Given the description of an element on the screen output the (x, y) to click on. 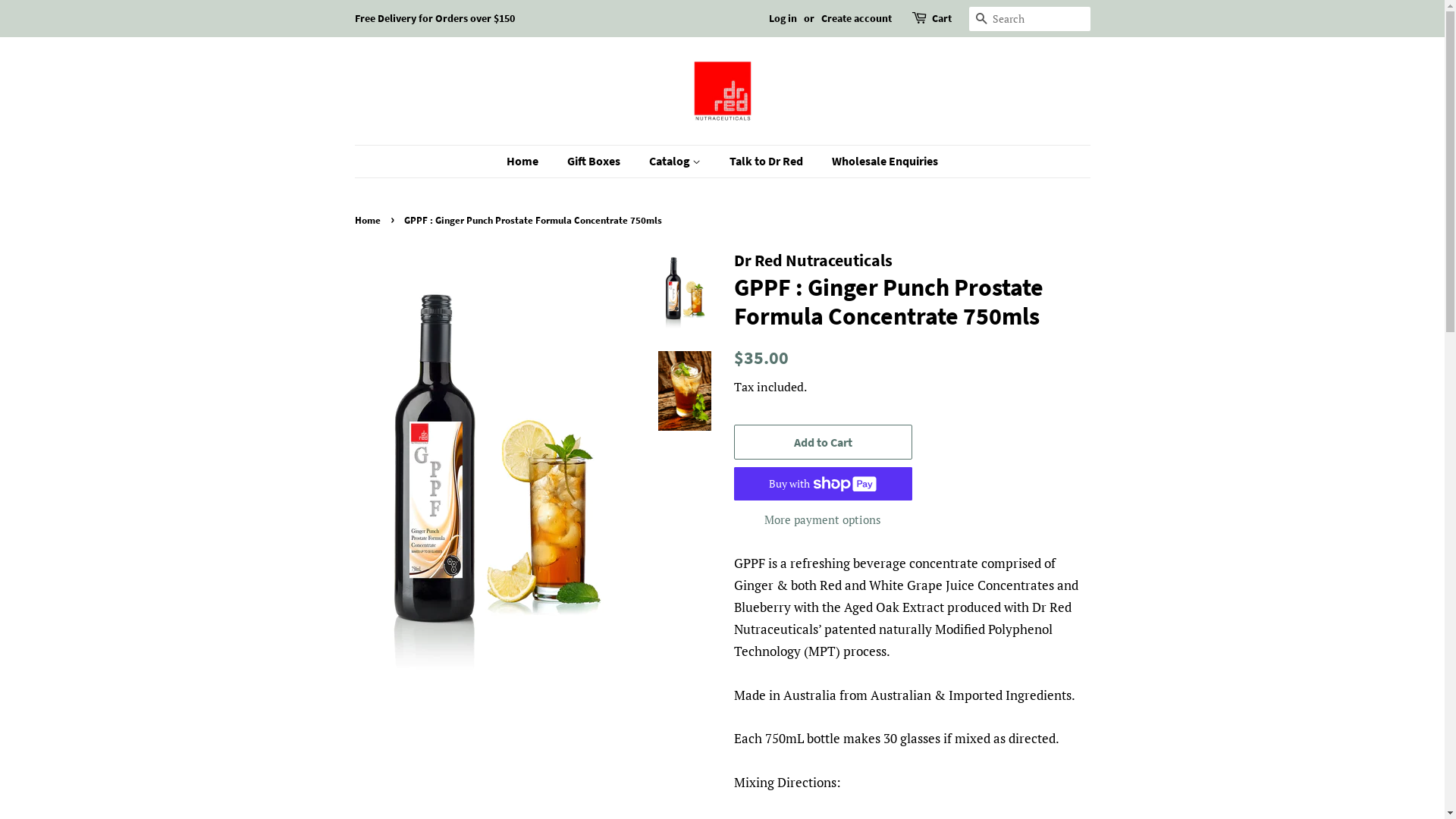
Home Element type: text (369, 219)
Gift Boxes Element type: text (595, 160)
Search Element type: text (981, 18)
Talk to Dr Red Element type: text (768, 160)
Home Element type: text (529, 160)
Cart Element type: text (940, 18)
More payment options Element type: text (823, 519)
Wholesale Enquiries Element type: text (879, 160)
Log in Element type: text (782, 18)
Catalog Element type: text (676, 160)
Create account Element type: text (855, 18)
Add to Cart Element type: text (823, 442)
